Given the description of an element on the screen output the (x, y) to click on. 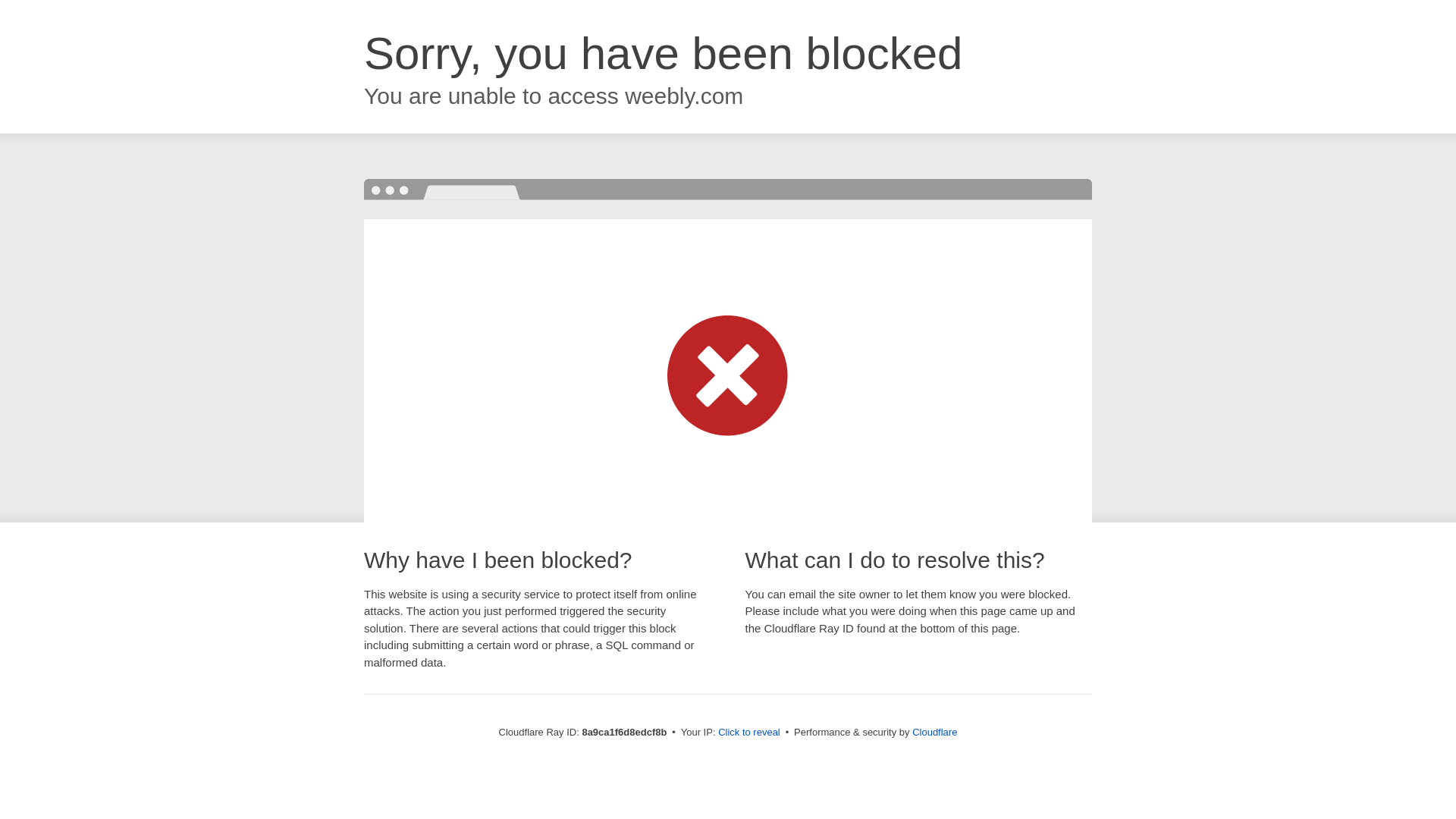
Cloudflare (934, 731)
Click to reveal (748, 732)
